Given the description of an element on the screen output the (x, y) to click on. 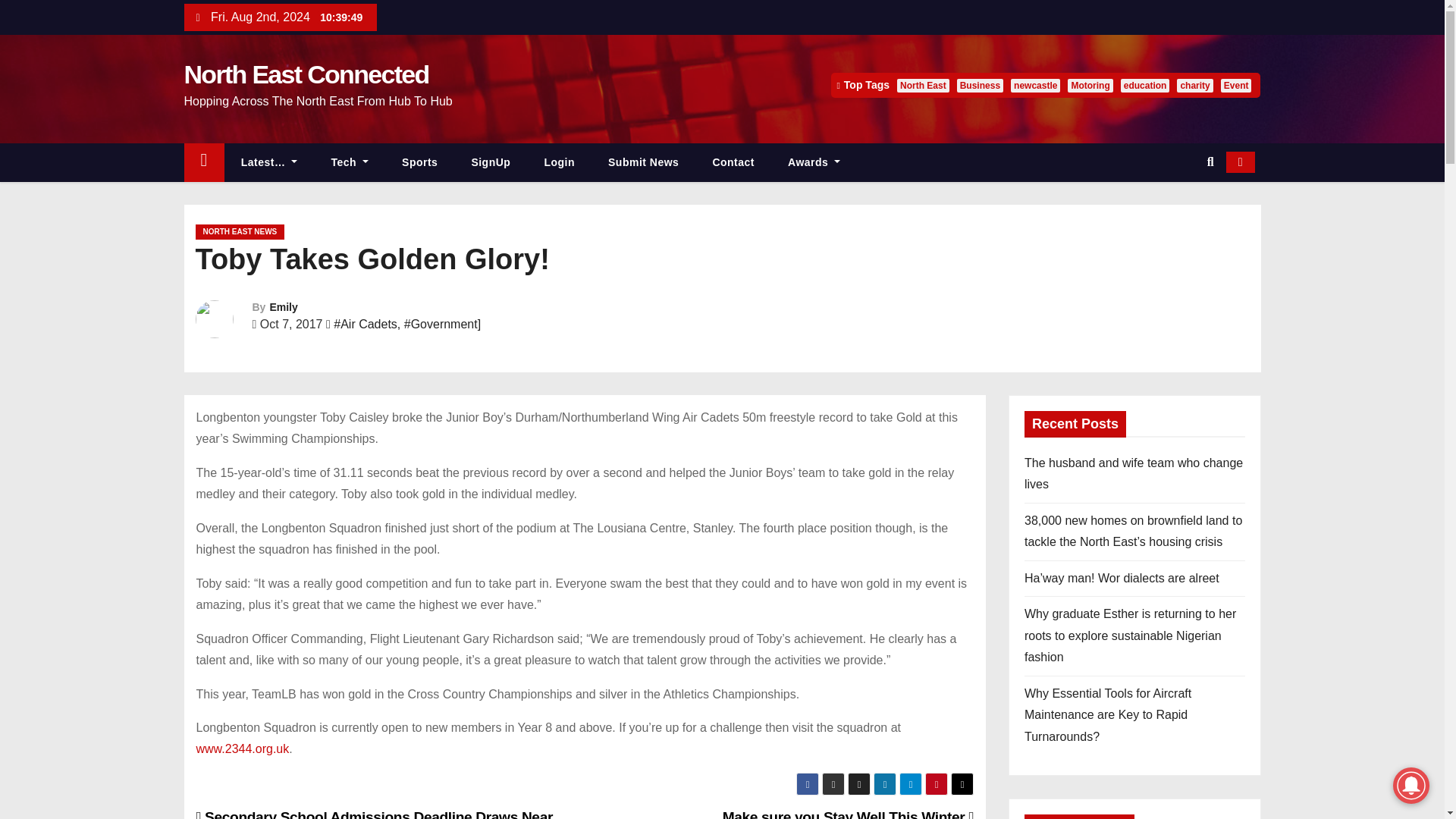
Login (559, 162)
Home (203, 162)
Tech (349, 162)
SignUp (490, 162)
Sports (419, 162)
Sports (419, 162)
Submit News (643, 162)
NORTH EAST NEWS (240, 231)
North East (922, 85)
Emily (283, 306)
